Given the description of an element on the screen output the (x, y) to click on. 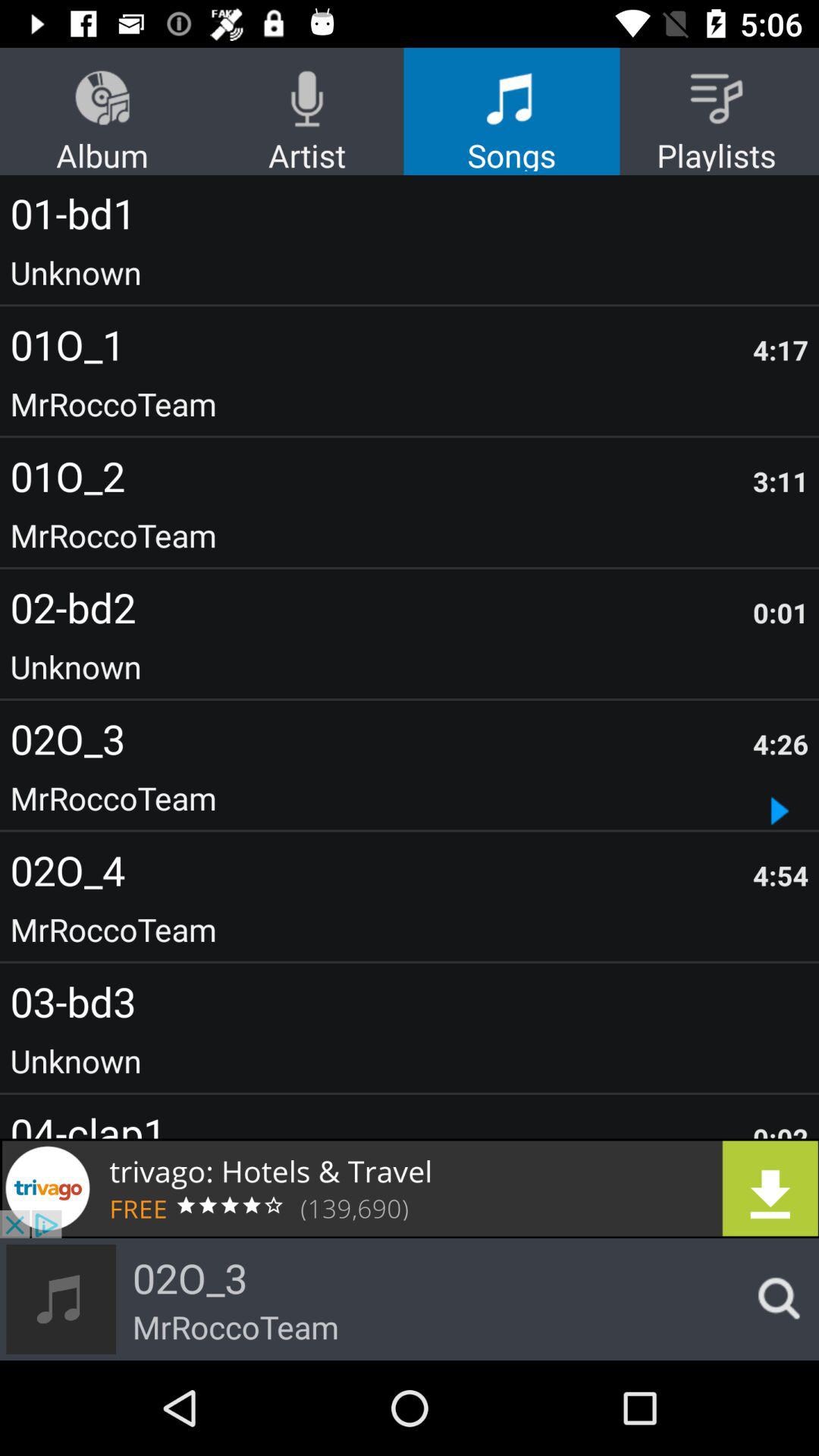
open trivago advertisement (409, 1188)
